Given the description of an element on the screen output the (x, y) to click on. 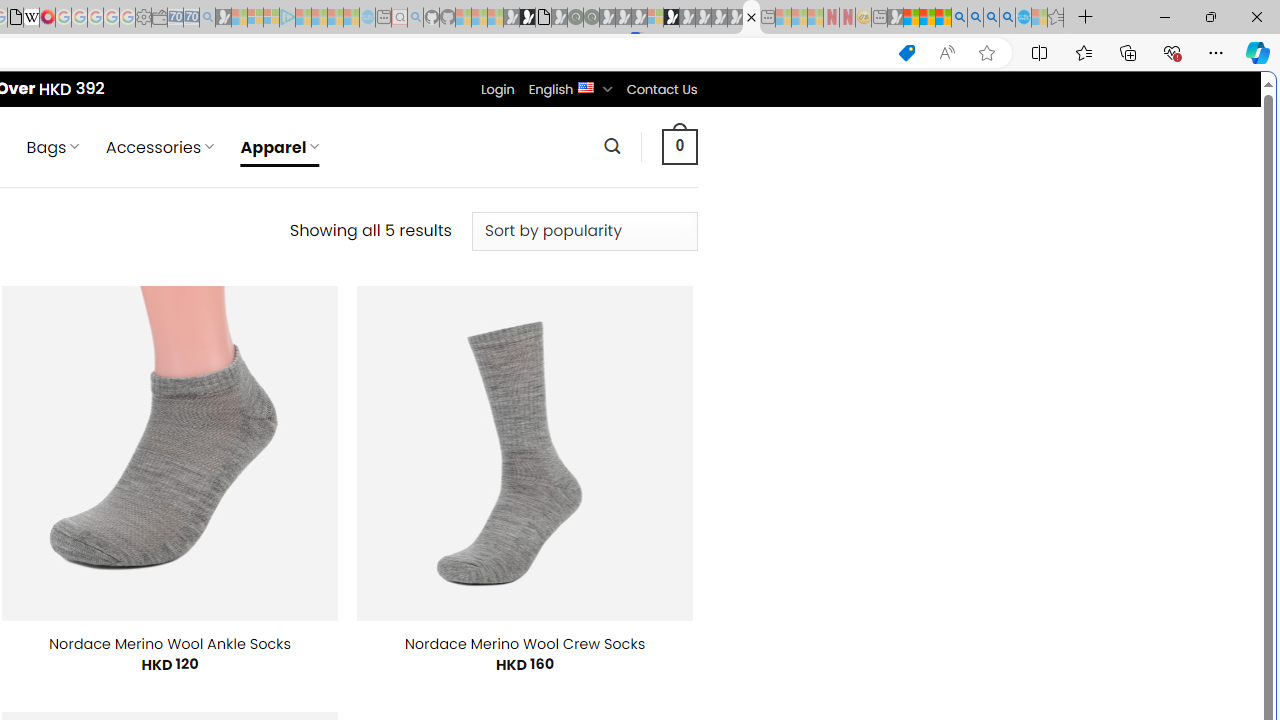
 0  (679, 146)
Search or enter web address (343, 191)
